Given the description of an element on the screen output the (x, y) to click on. 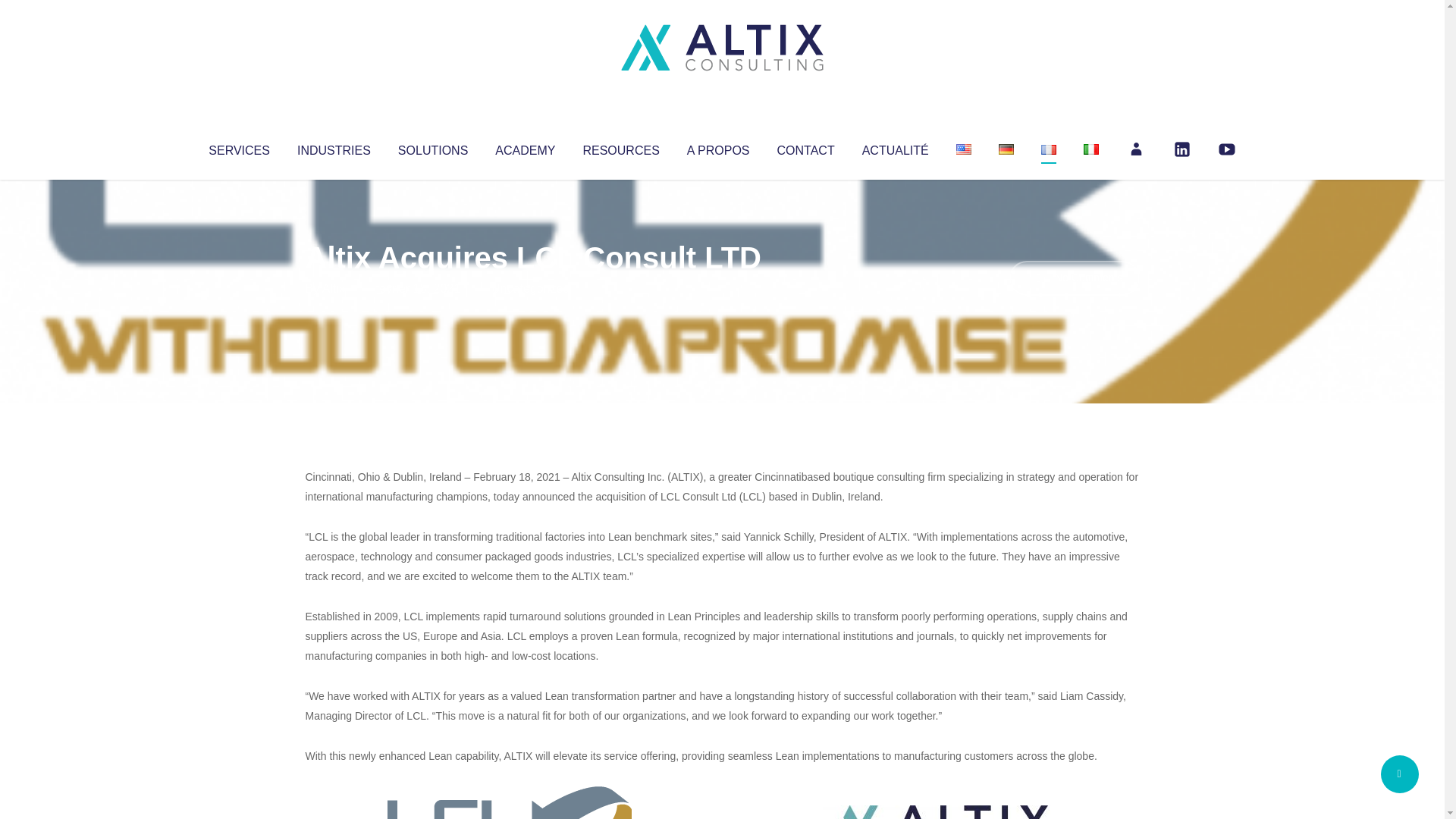
SOLUTIONS (432, 146)
No Comments (1073, 278)
A PROPOS (718, 146)
ACADEMY (524, 146)
Altix (333, 287)
INDUSTRIES (334, 146)
Uncategorized (530, 287)
RESOURCES (620, 146)
SERVICES (238, 146)
Articles par Altix (333, 287)
